Given the description of an element on the screen output the (x, y) to click on. 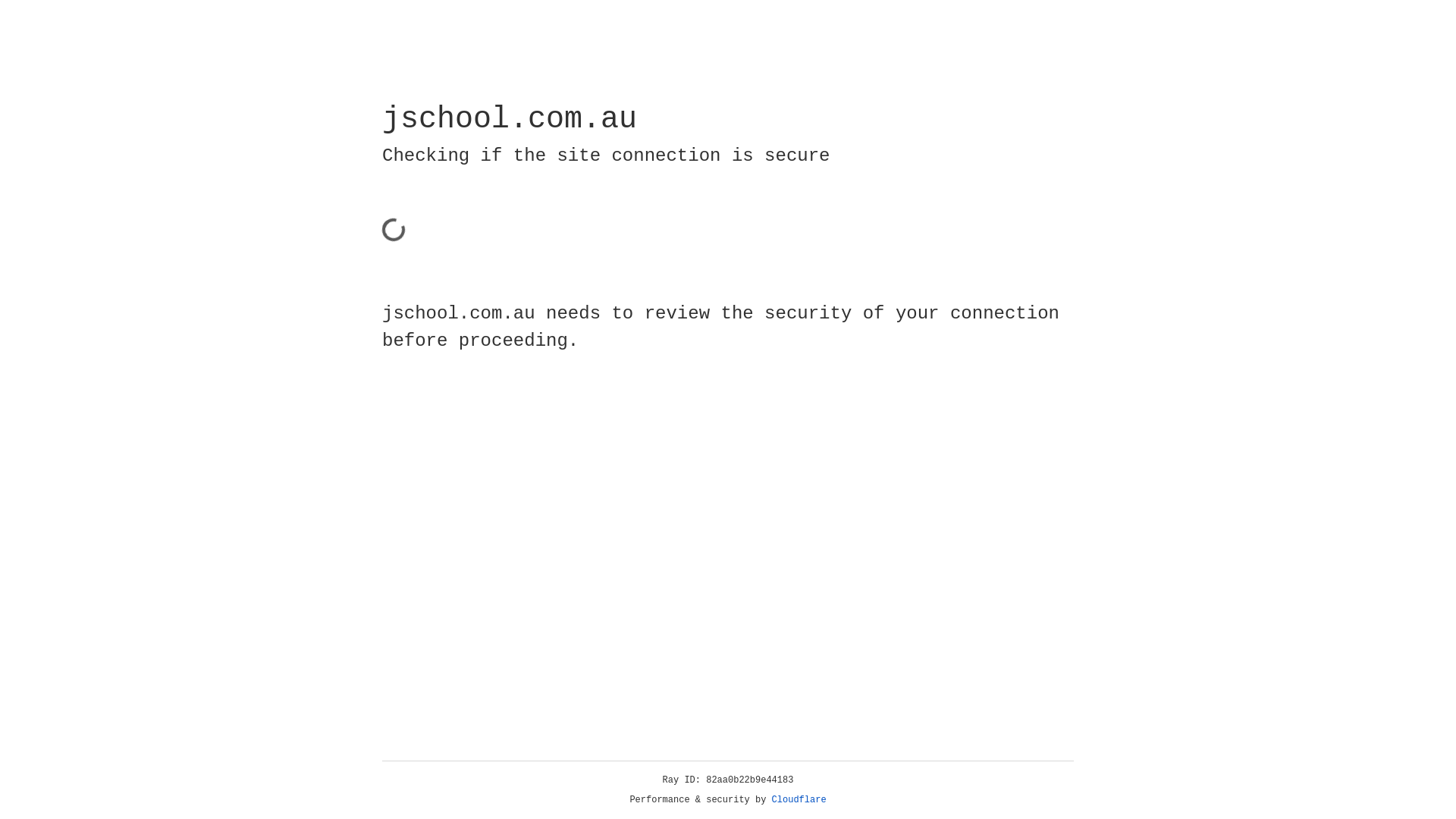
Cloudflare Element type: text (798, 799)
